Given the description of an element on the screen output the (x, y) to click on. 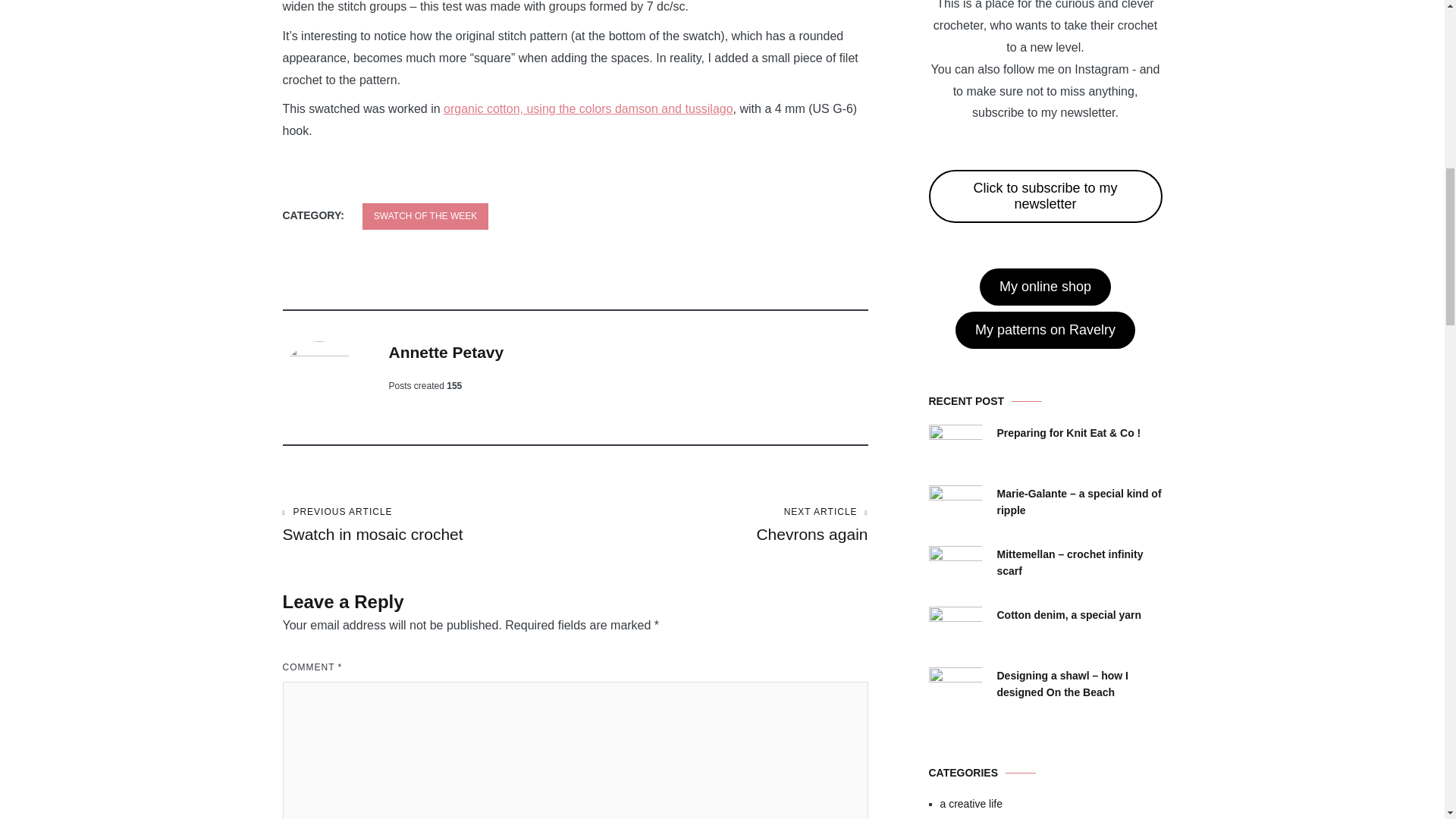
Click to subscribe to my newsletter (1044, 195)
My online shop (1044, 286)
SWATCH OF THE WEEK (424, 216)
Posts by Annette Petavy (445, 352)
My patterns on Ravelry (1045, 330)
organic cotton, using the colors damson and tussilago (588, 108)
Annette Petavy (721, 524)
